Given the description of an element on the screen output the (x, y) to click on. 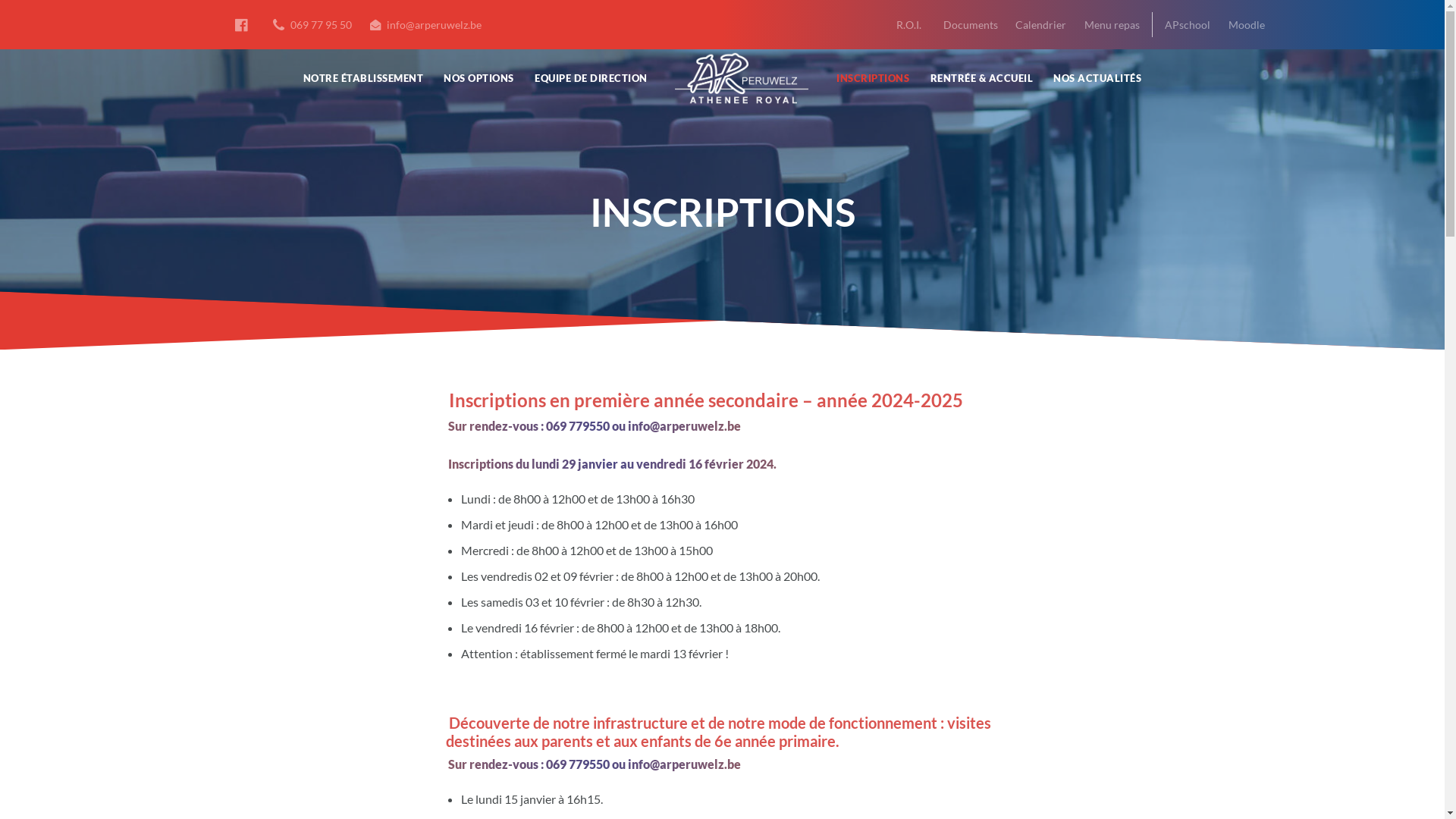
069 77 95 50 Element type: text (311, 24)
INSCRIPTIONS Element type: text (872, 78)
Moodle Element type: text (1246, 24)
R.O.I. Element type: text (908, 24)
Calendrier Element type: text (1040, 24)
info@arperuwelz.be Element type: text (425, 24)
Documents Element type: text (970, 24)
Menu repas Element type: text (1111, 24)
EQUIPE DE DIRECTION Element type: text (590, 78)
NOS OPTIONS Element type: text (478, 78)
APschool Element type: text (1183, 24)
